Given the description of an element on the screen output the (x, y) to click on. 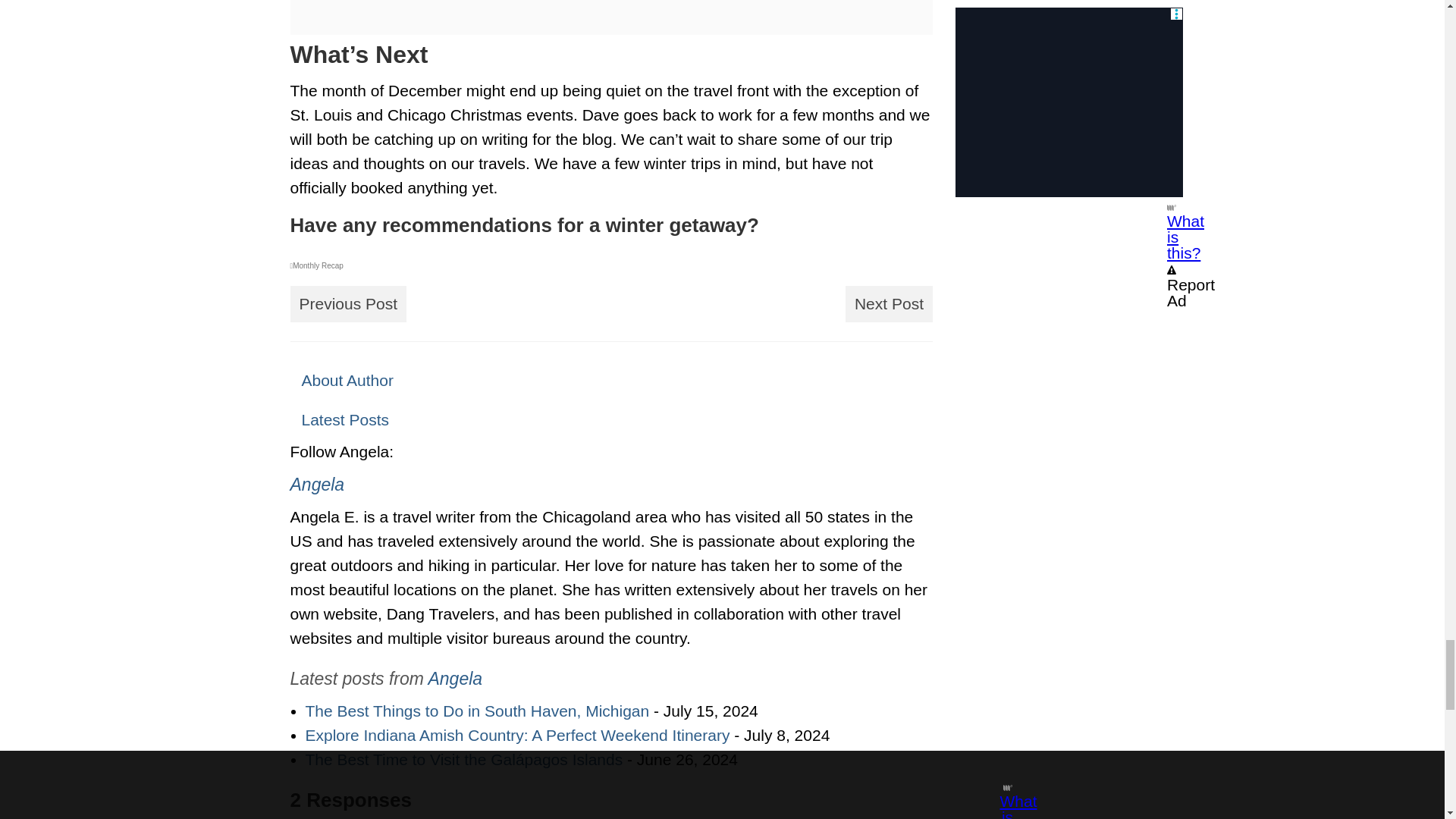
Posts by Angela (316, 484)
Posts by Angela (454, 678)
